Given the description of an element on the screen output the (x, y) to click on. 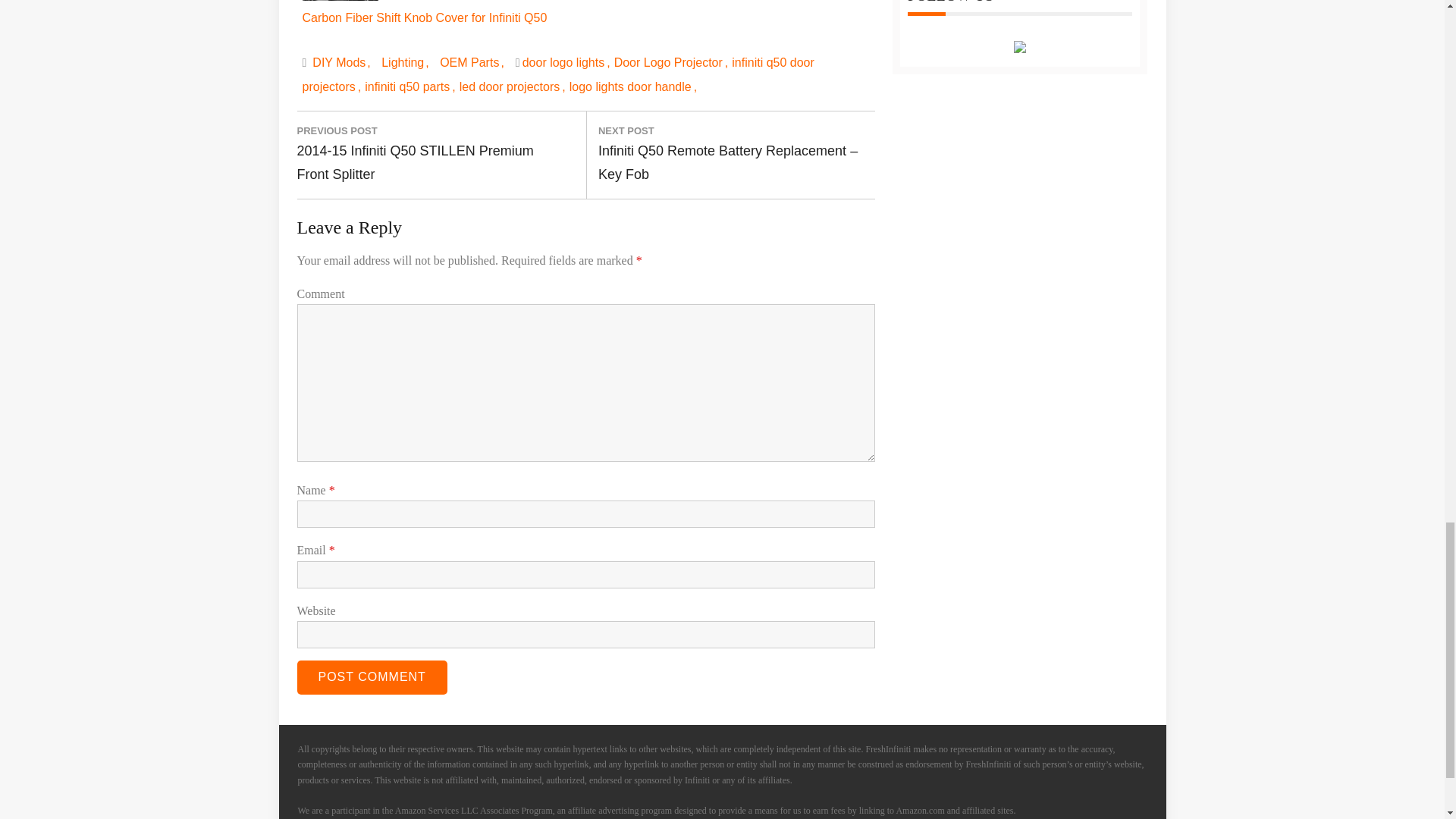
DIY Mods (340, 62)
Carbon Fiber Shift Knob Cover for Infiniti Q50 (424, 11)
Post Comment (371, 677)
